Given the description of an element on the screen output the (x, y) to click on. 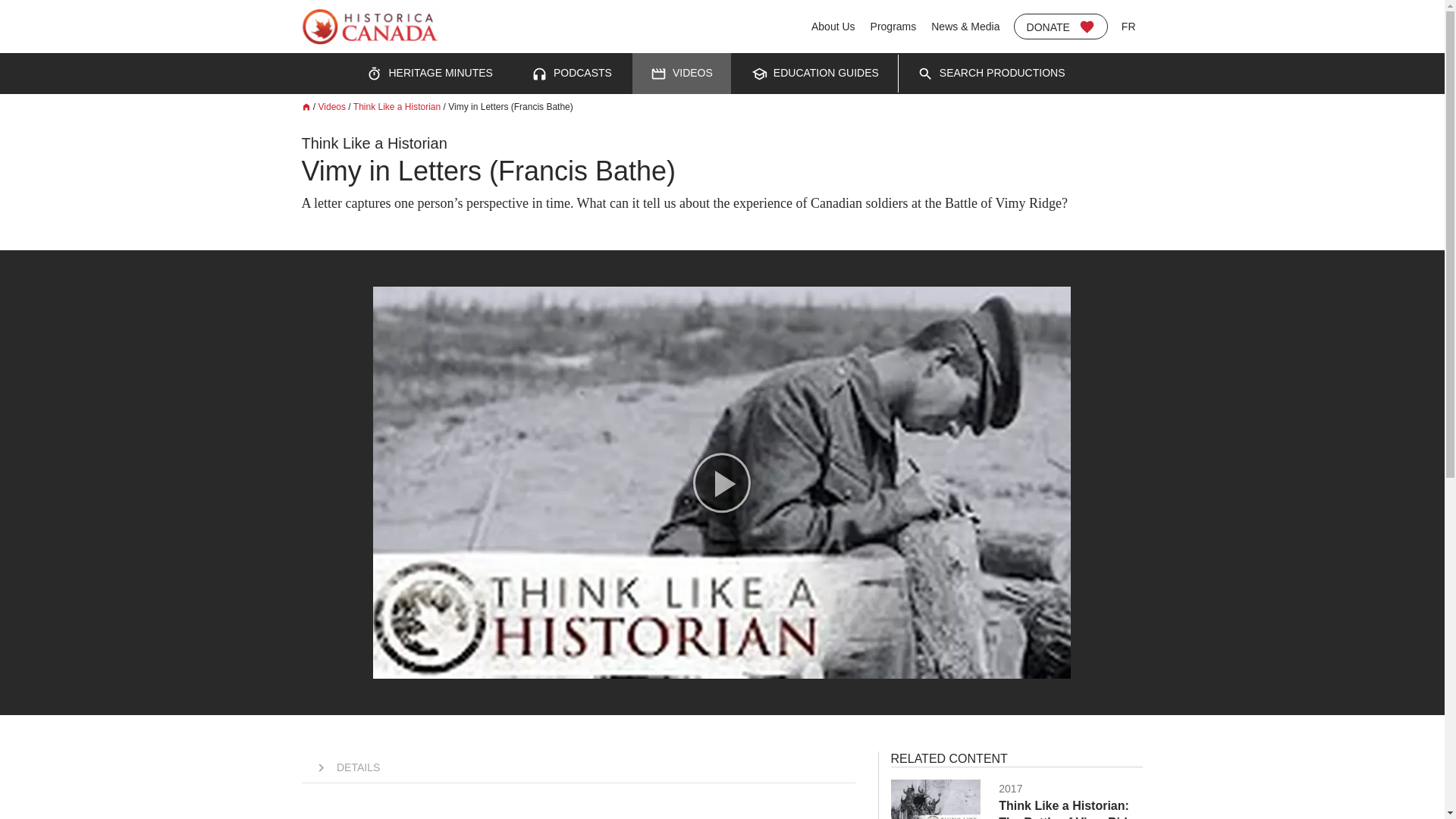
VIDEOS (680, 73)
FR (1128, 26)
Programs (893, 26)
PODCASTS (991, 73)
About Us (571, 73)
Think Like a Historian (833, 26)
EDUCATION GUIDES (1007, 793)
Play (397, 106)
SEARCH PRODUCTIONS (814, 73)
DONATE (722, 482)
Videos (925, 73)
HERITAGE MINUTES (1060, 26)
